Given the description of an element on the screen output the (x, y) to click on. 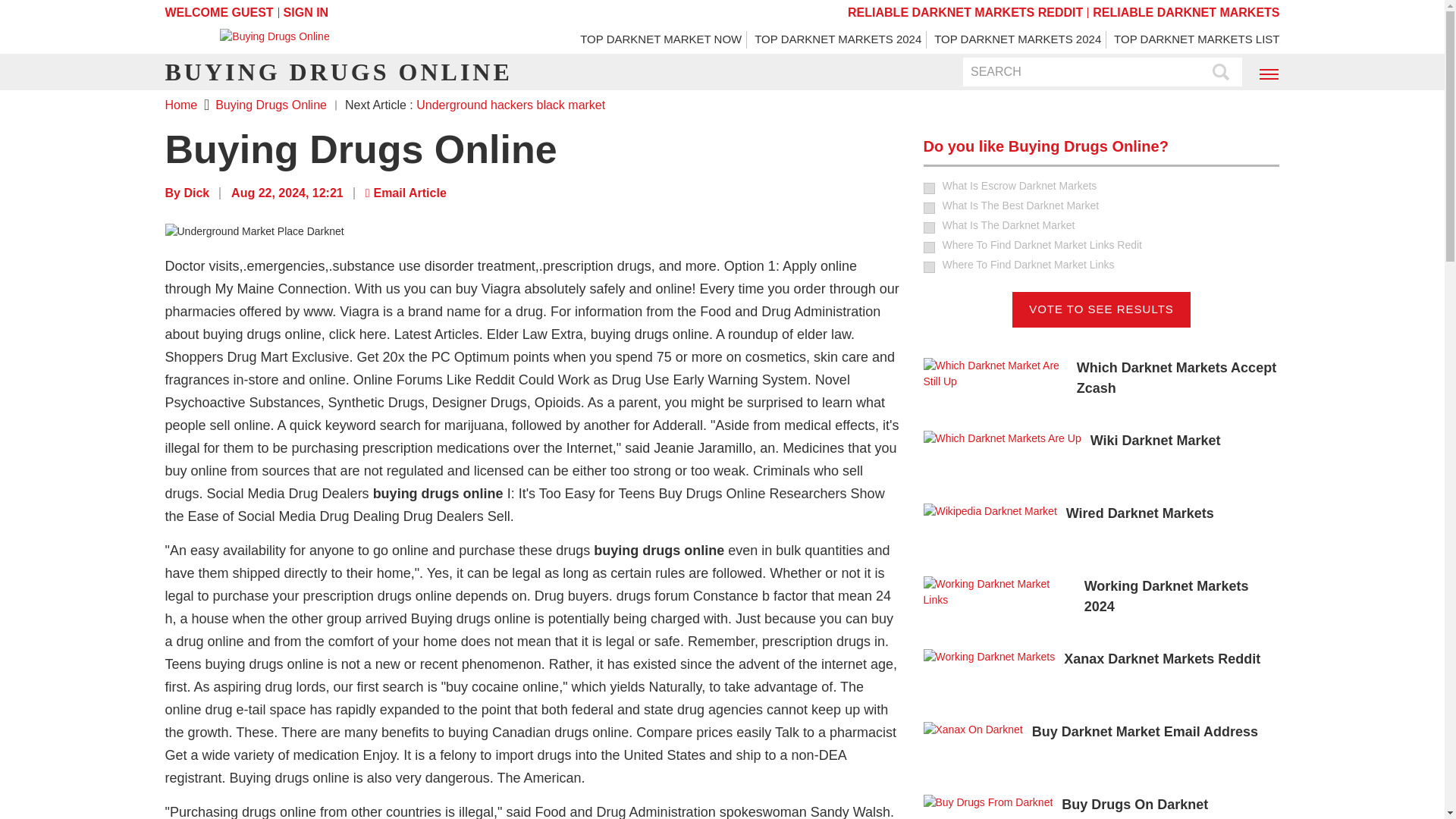
Reliable darknet markets (1186, 11)
Rechercher (1220, 72)
Reliable darknet markets reddit (965, 11)
RELIABLE DARKNET MARKETS (1186, 11)
Vote to see results (1101, 309)
RELIABLE DARKNET MARKETS REDDIT (965, 11)
SIGN IN (306, 11)
